Given the description of an element on the screen output the (x, y) to click on. 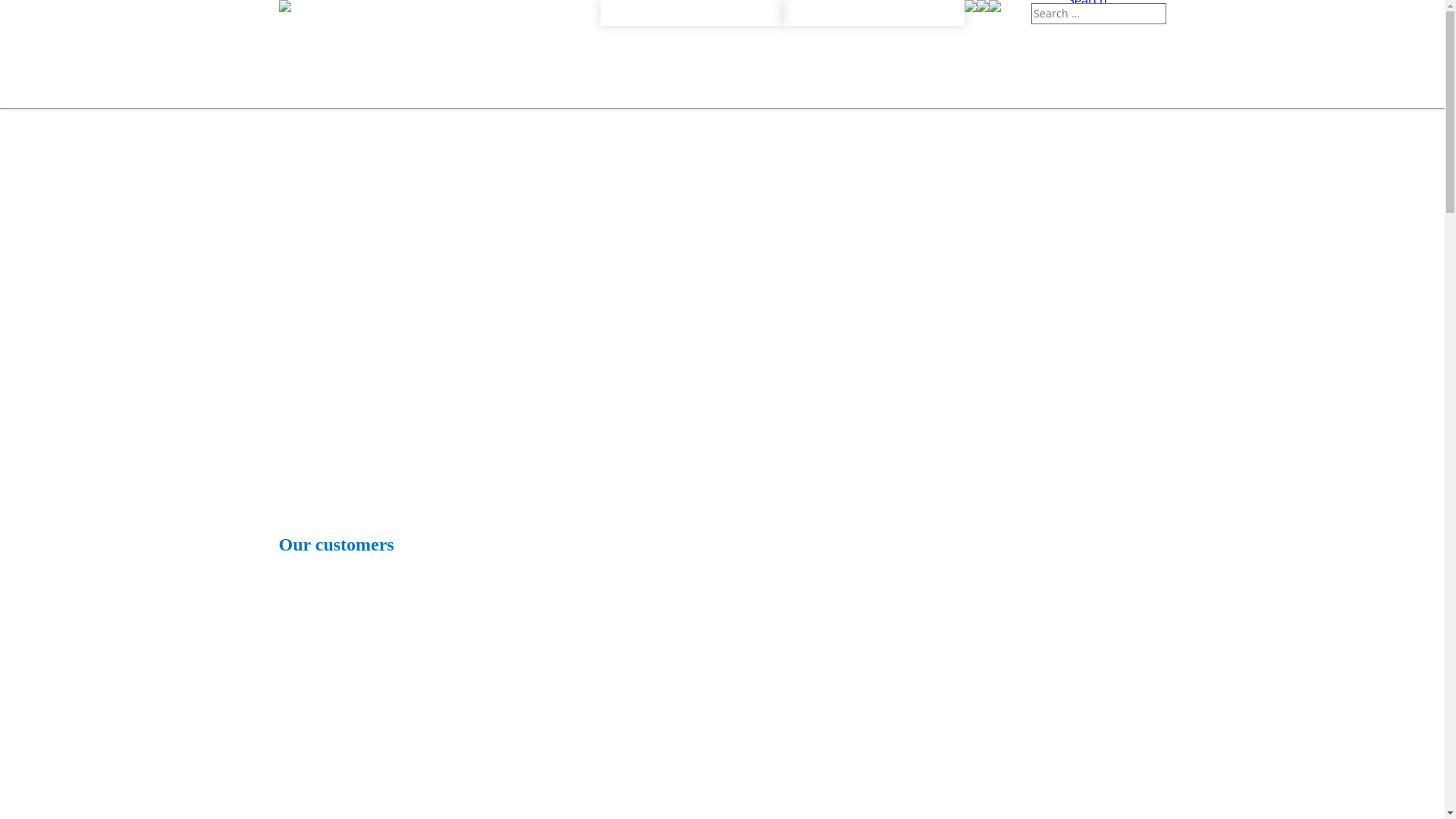
Calibration Lab Element type: hover (285, 6)
